Given the description of an element on the screen output the (x, y) to click on. 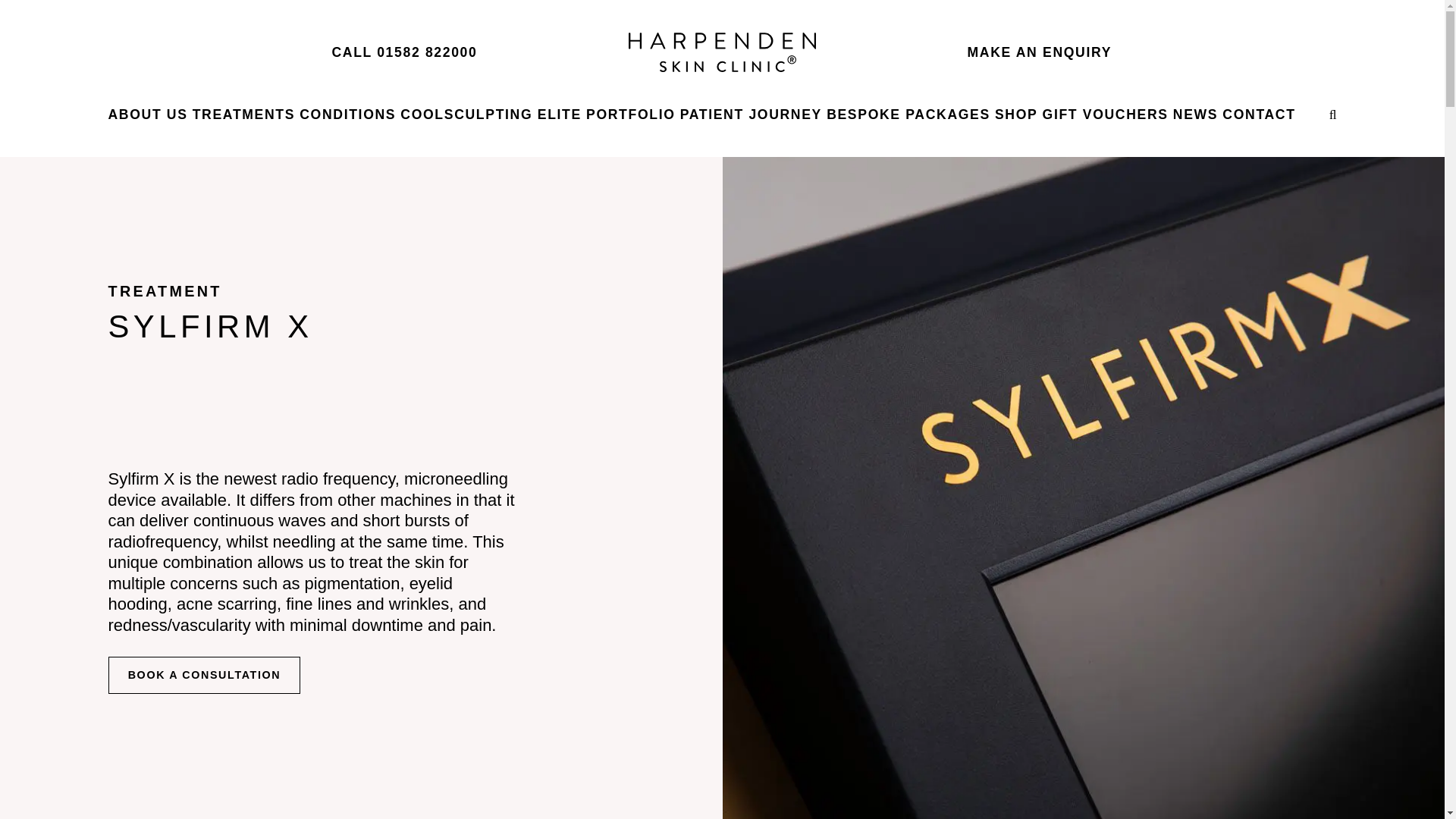
Patient Journey (750, 114)
PORTFOLIO (630, 114)
ABOUT US (147, 114)
Contact (1259, 114)
Conditions (347, 114)
SHOP (1015, 114)
News (1195, 114)
PATIENT JOURNEY (750, 114)
Treatments (243, 114)
CoolSculpting Elite (490, 114)
Portfolio (630, 114)
About Us (147, 114)
CONTACT (1259, 114)
Gift Vouchers (1105, 114)
CONDITIONS (347, 114)
